Given the description of an element on the screen output the (x, y) to click on. 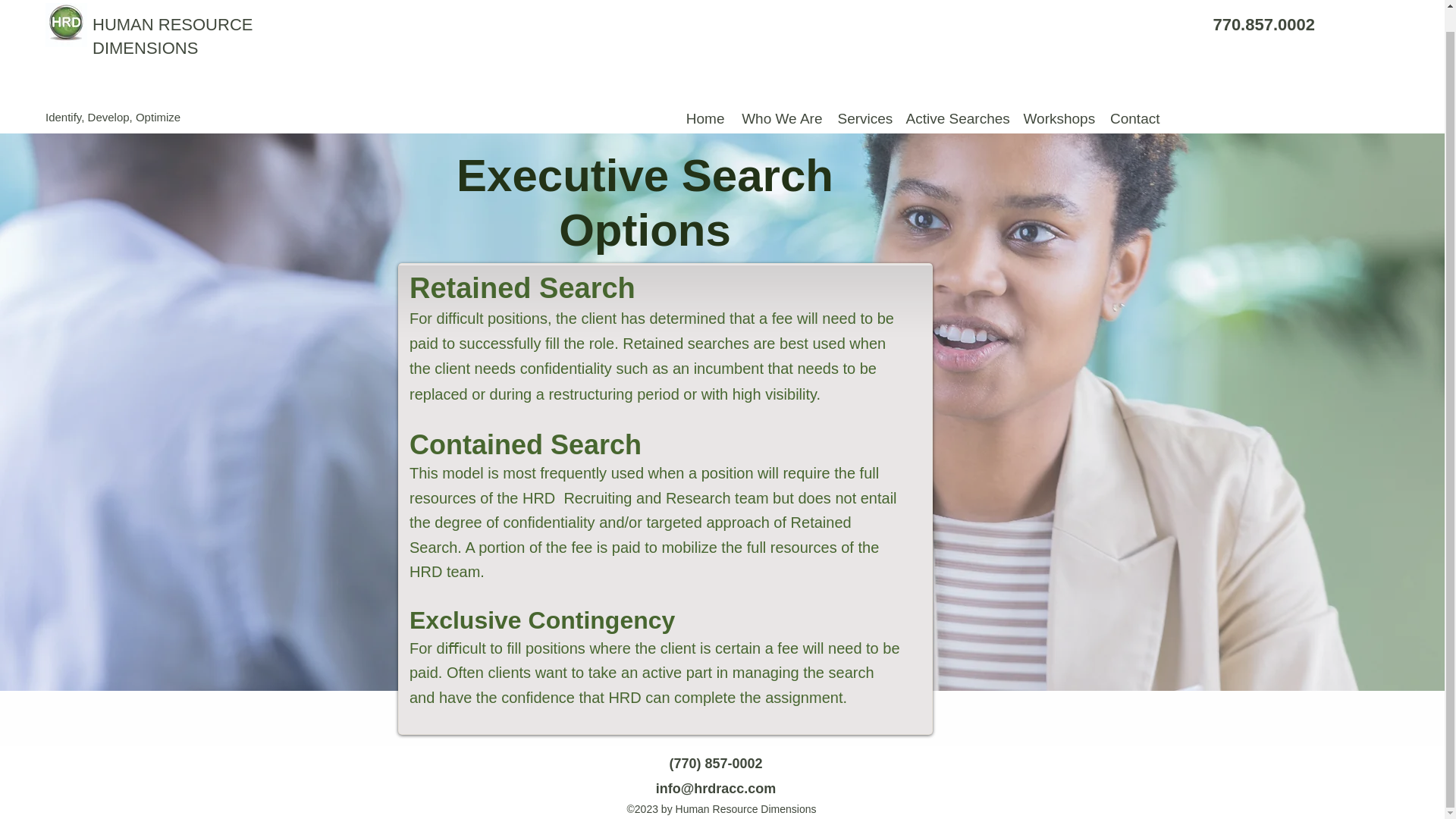
Home (705, 118)
Workshops (1059, 118)
HUMAN RESOURCE DIMENSIONS (172, 36)
Services (863, 118)
Who We Are (780, 118)
Active Searches (956, 118)
Contact (1134, 118)
